Given the description of an element on the screen output the (x, y) to click on. 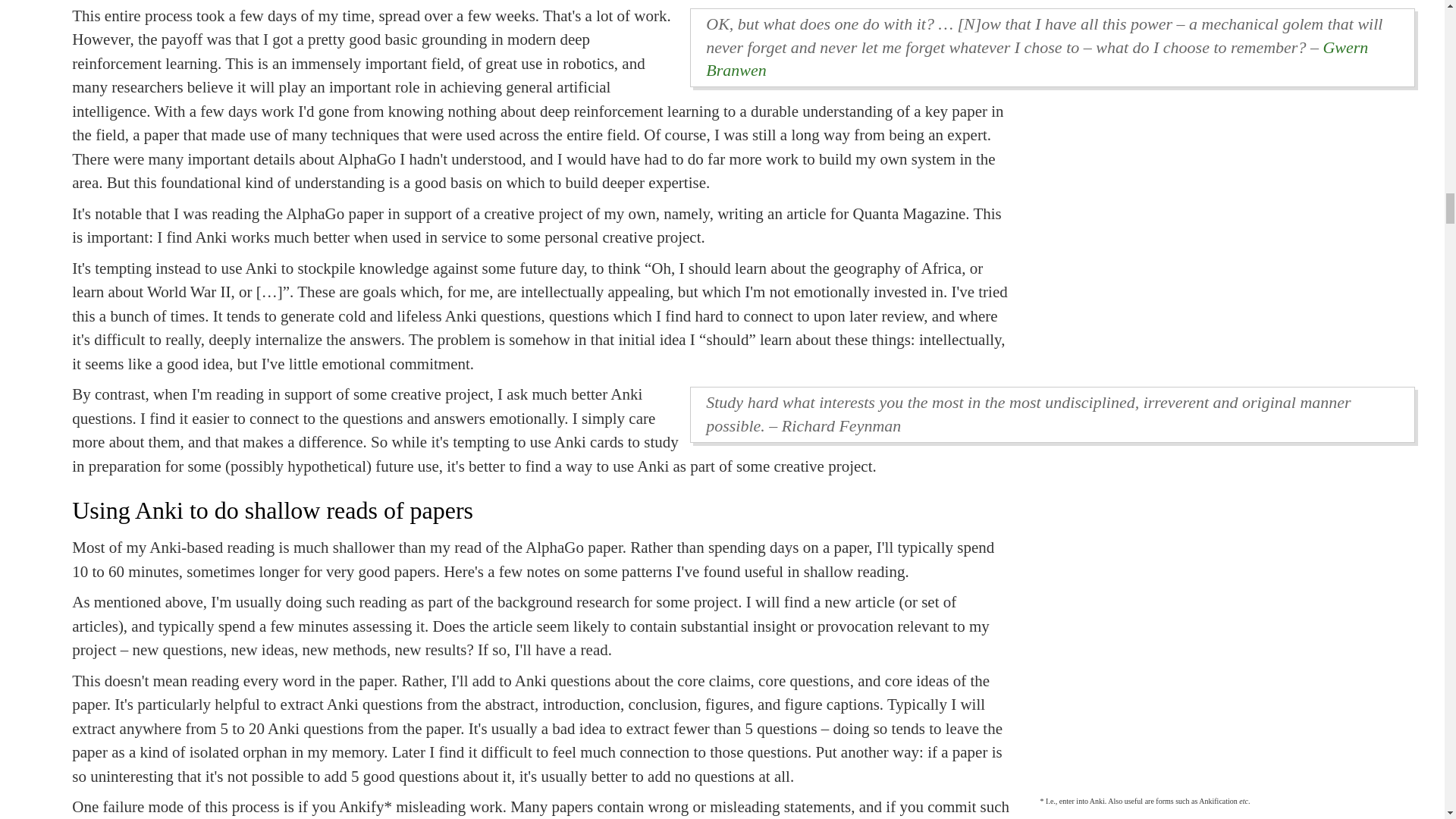
Gwern Branwen (1037, 58)
